Given the description of an element on the screen output the (x, y) to click on. 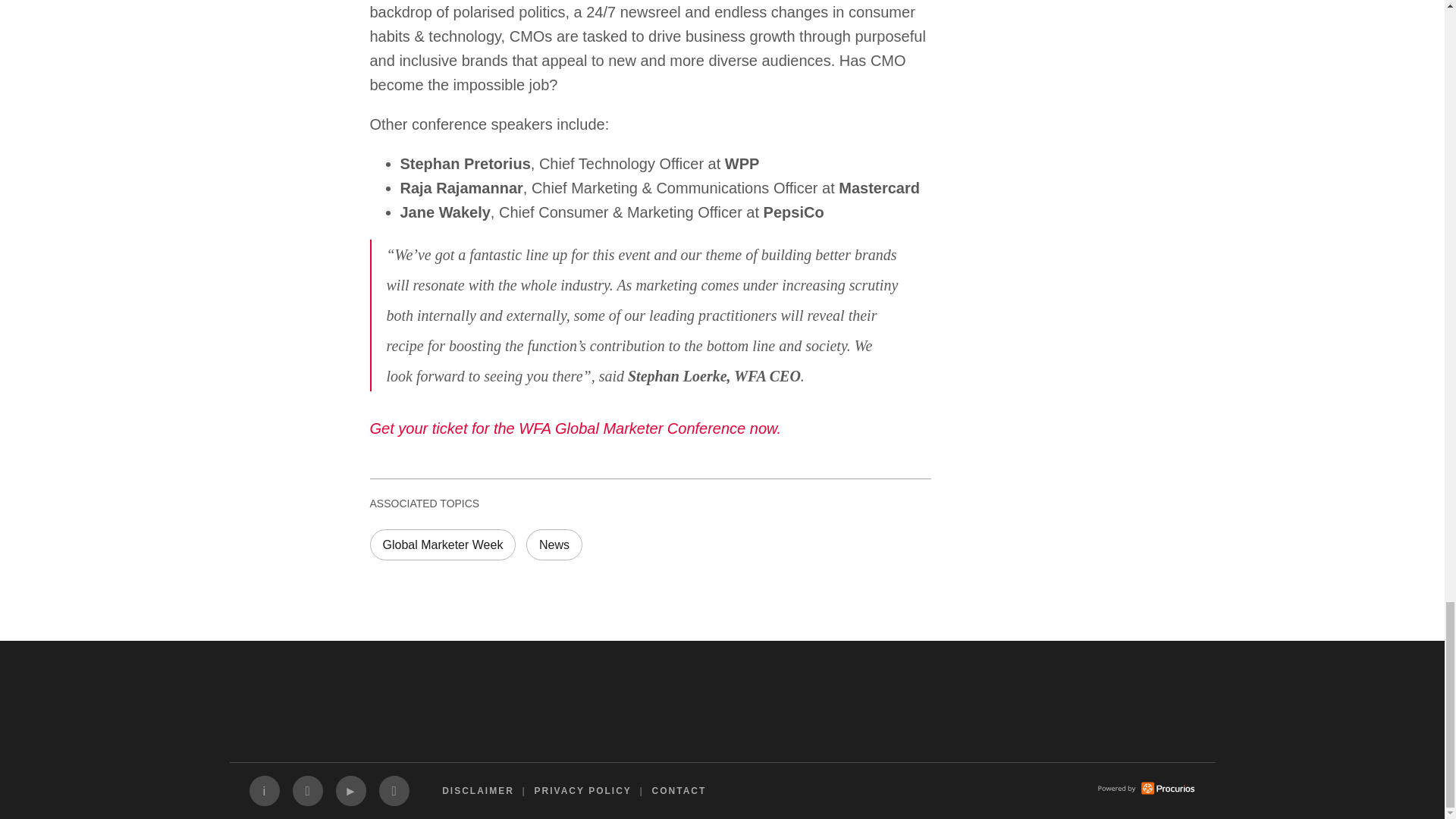
View our Youtube page (349, 790)
Join our LinkedIn group (263, 790)
Show posts with the tag 'Global Marketer Week' (442, 544)
Follow us on Spotify (393, 790)
Follow us on X (307, 790)
